Given the description of an element on the screen output the (x, y) to click on. 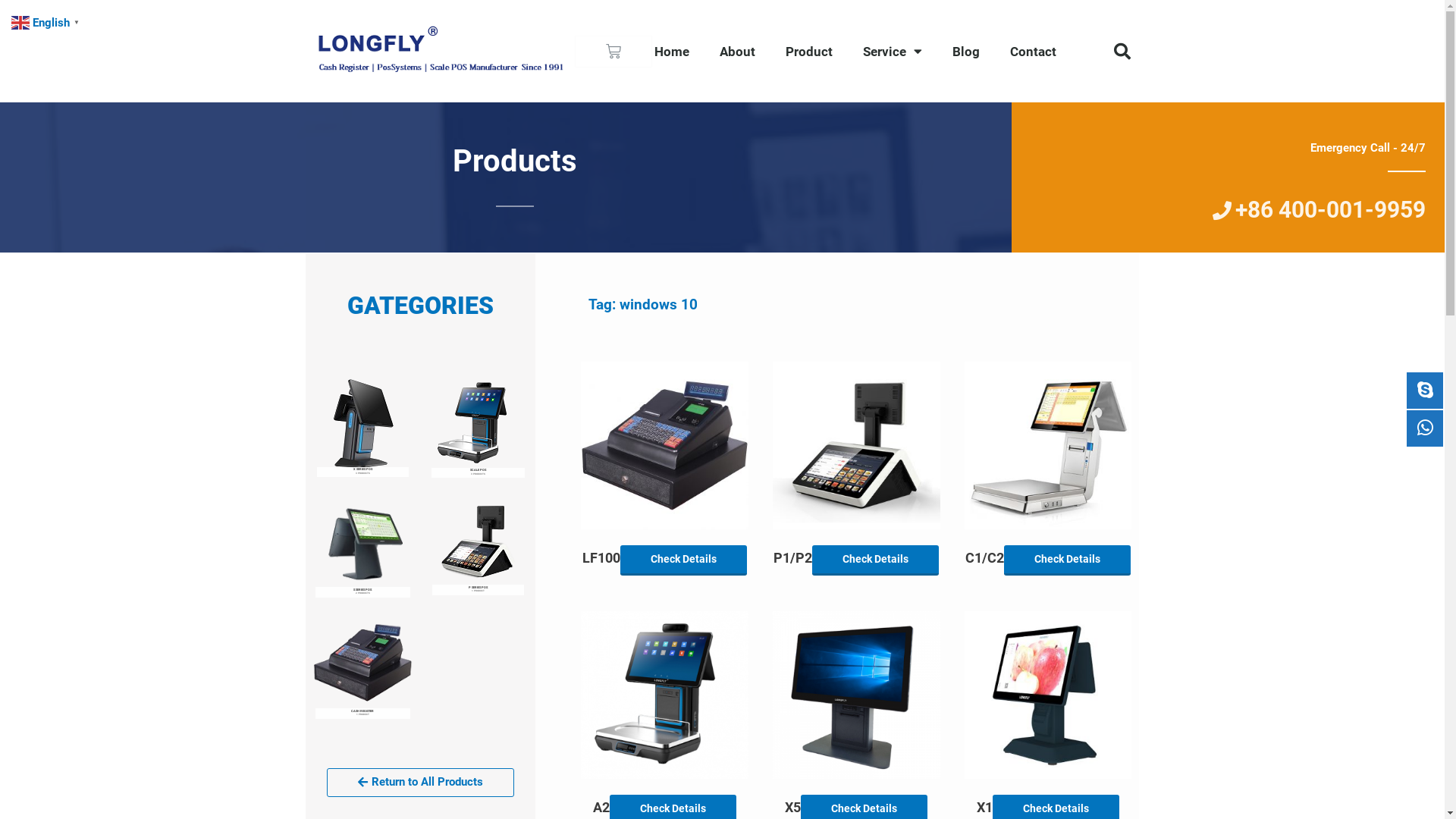
CASH REGISTER
1 PRODUCT Element type: text (362, 667)
P1/P2 Element type: text (792, 561)
Check Details Element type: text (1067, 560)
P SERIES POS
1 PRODUCT Element type: text (478, 546)
Contact Element type: text (1032, 51)
Check Details Element type: text (875, 560)
Check Details Element type: text (683, 560)
LF100 Element type: text (601, 561)
Return to All Products Element type: text (420, 782)
Blog Element type: text (965, 51)
C1/C2 Element type: text (984, 561)
SCALE POS
3 PRODUCTS Element type: text (477, 428)
About Element type: text (737, 51)
X SERIES POS
3 PRODUCTS Element type: text (362, 428)
Product Element type: text (808, 51)
Service Element type: text (892, 51)
Home Element type: text (671, 51)
S SERIES POS
2 PRODUCTS Element type: text (362, 547)
Longfly-main1 Element type: hover (439, 51)
